Given the description of an element on the screen output the (x, y) to click on. 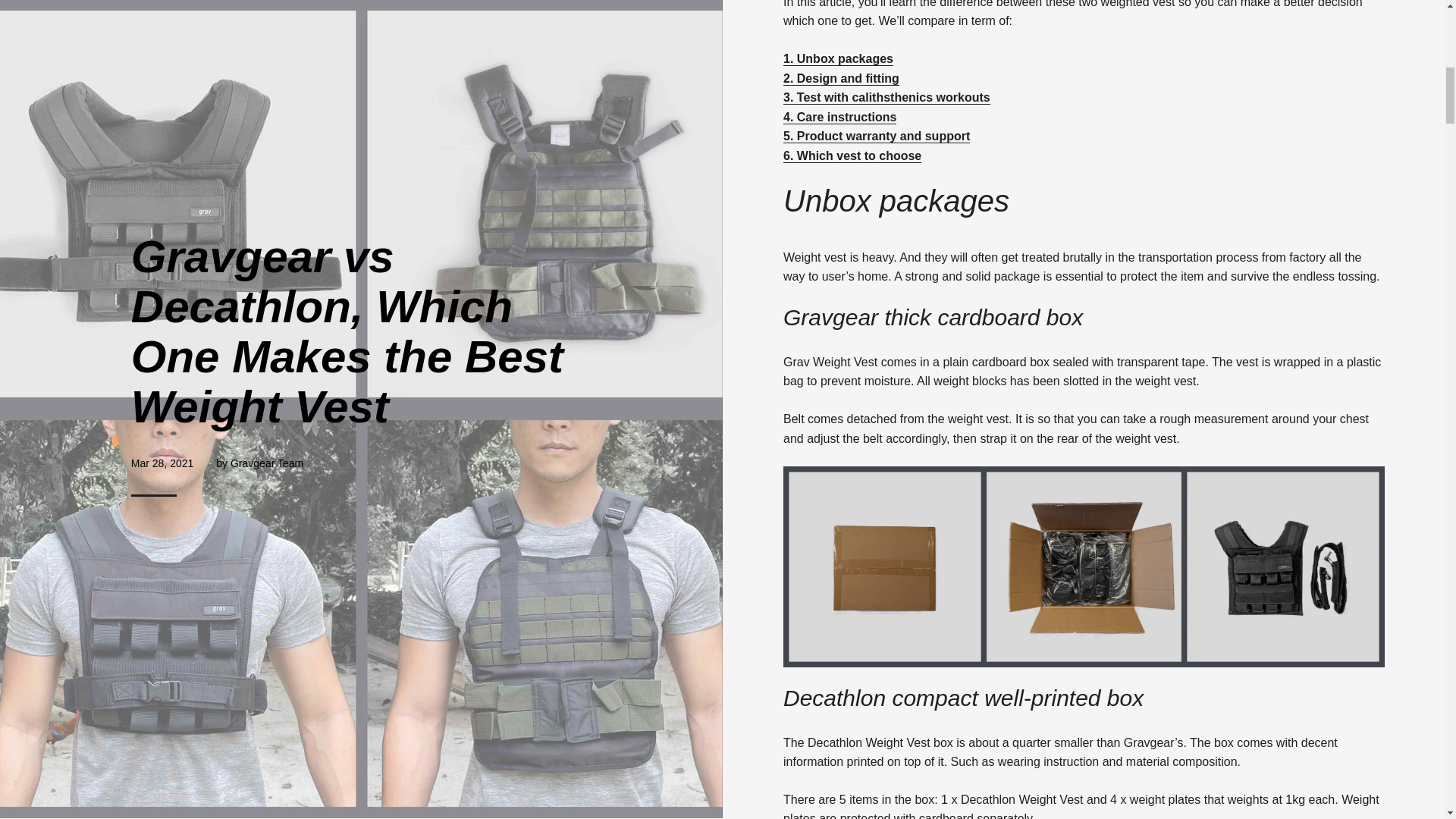
5. Product warranty and support (876, 136)
4. Care instructions (839, 117)
6. Which vest to choose (852, 155)
3. Test with calithsthenics workouts (886, 97)
1. Unbox packages (838, 59)
2. Design and fitting (841, 78)
